Given the description of an element on the screen output the (x, y) to click on. 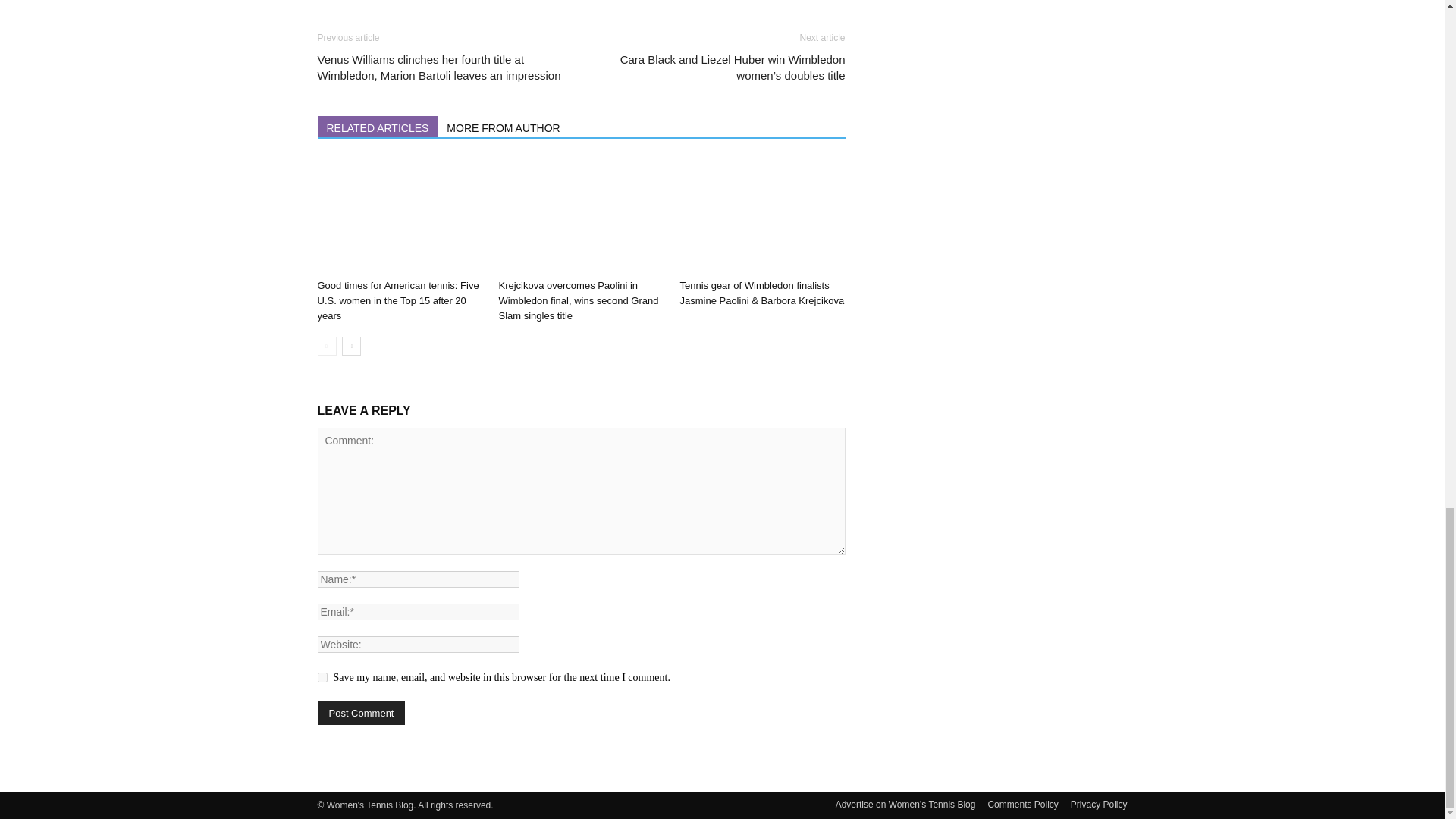
yes (321, 677)
Post Comment (360, 712)
